Given the description of an element on the screen output the (x, y) to click on. 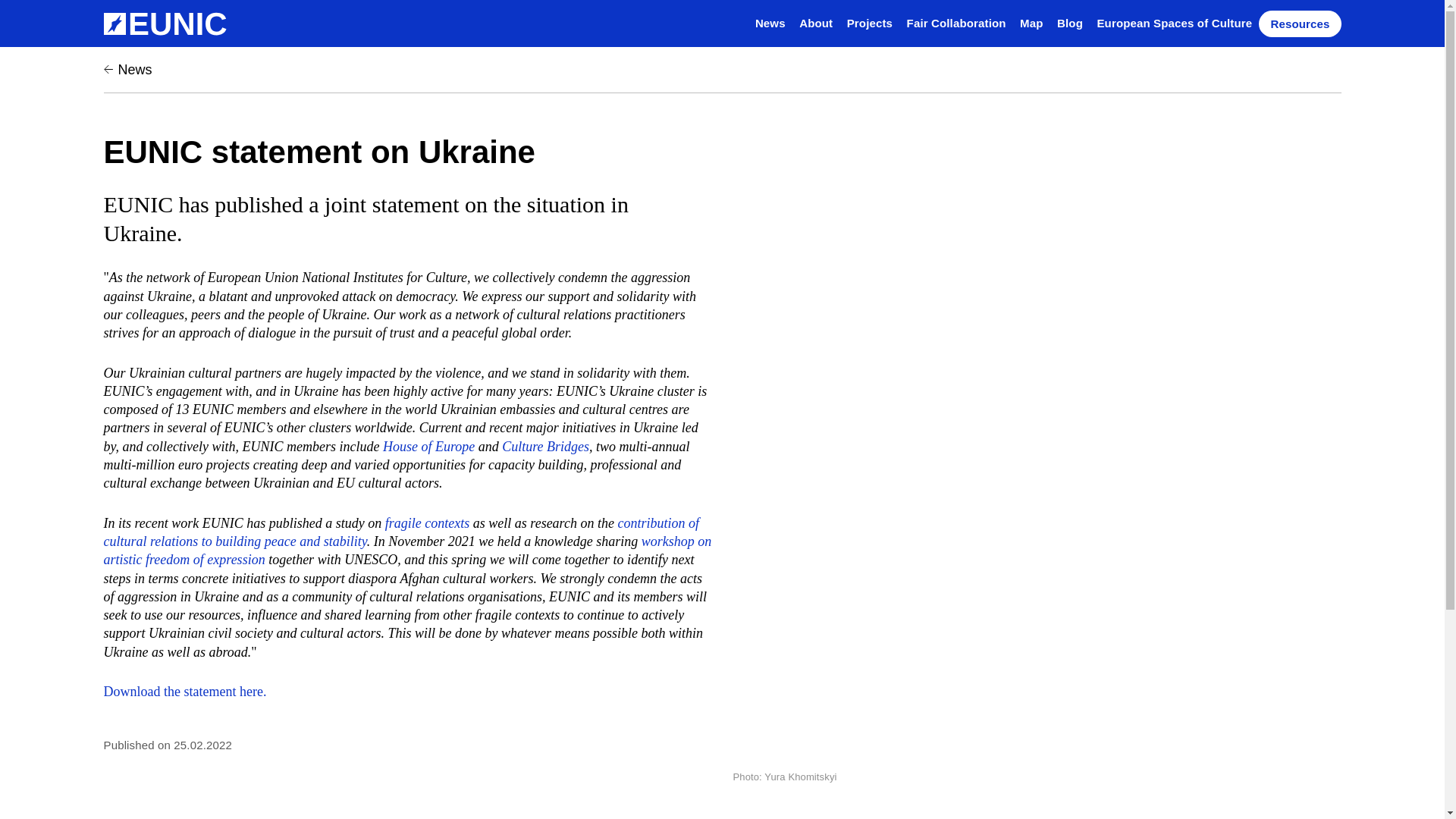
House of Europe (428, 446)
Projects (869, 23)
Resources (1299, 23)
European Spaces of Culture (1174, 23)
workshop on artistic freedom of expression (407, 550)
Culture Bridges (545, 446)
Fair Collaboration (956, 23)
News (127, 69)
Download the statement here. (184, 691)
